Given the description of an element on the screen output the (x, y) to click on. 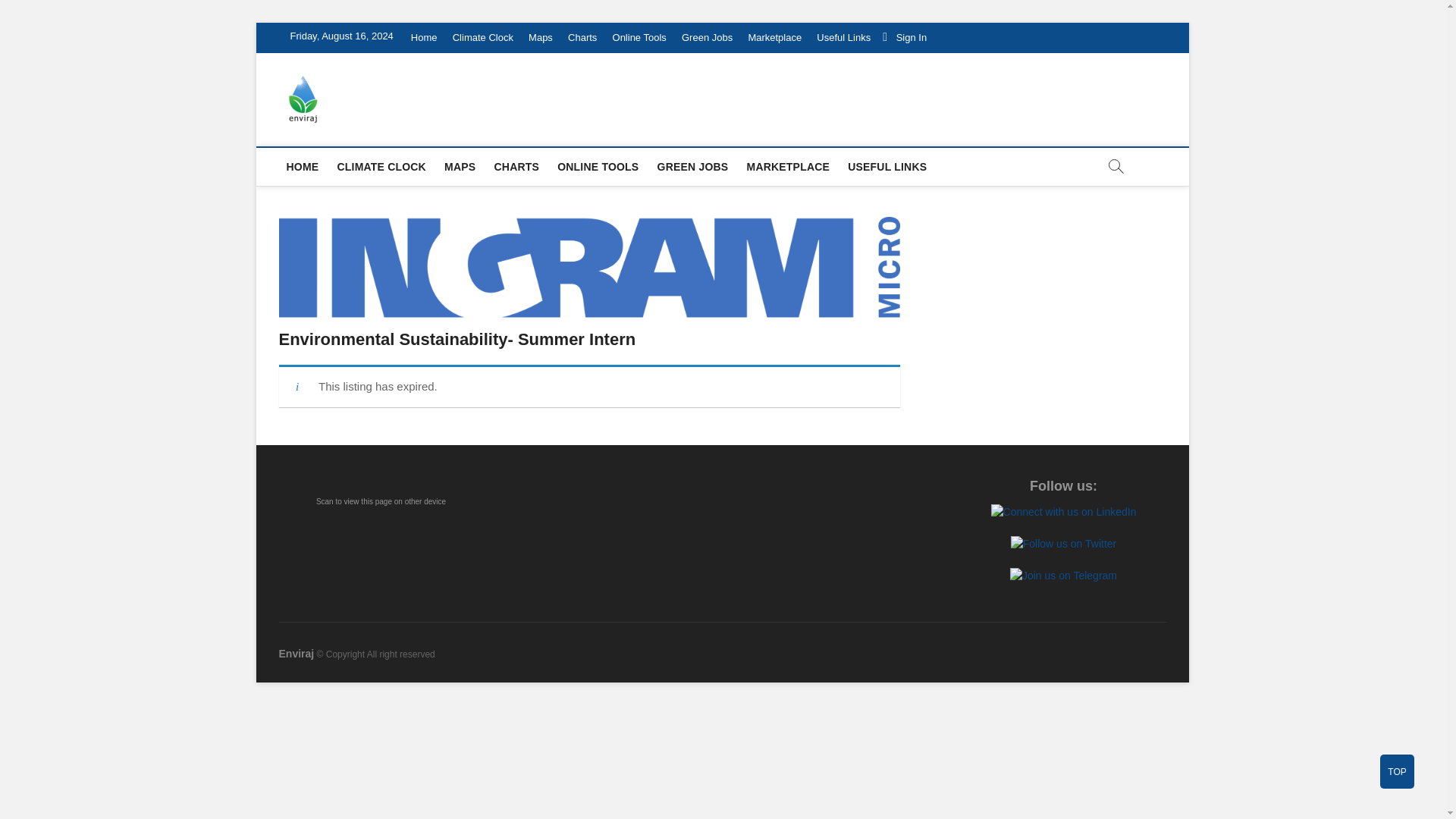
CHARTS (516, 166)
HOME (302, 166)
Useful Links (843, 37)
MAPS (459, 166)
Online Tools (639, 37)
CLIMATE CLOCK (380, 166)
USEFUL LINKS (887, 166)
Enviraj (361, 103)
Enviraj (296, 653)
